Given the description of an element on the screen output the (x, y) to click on. 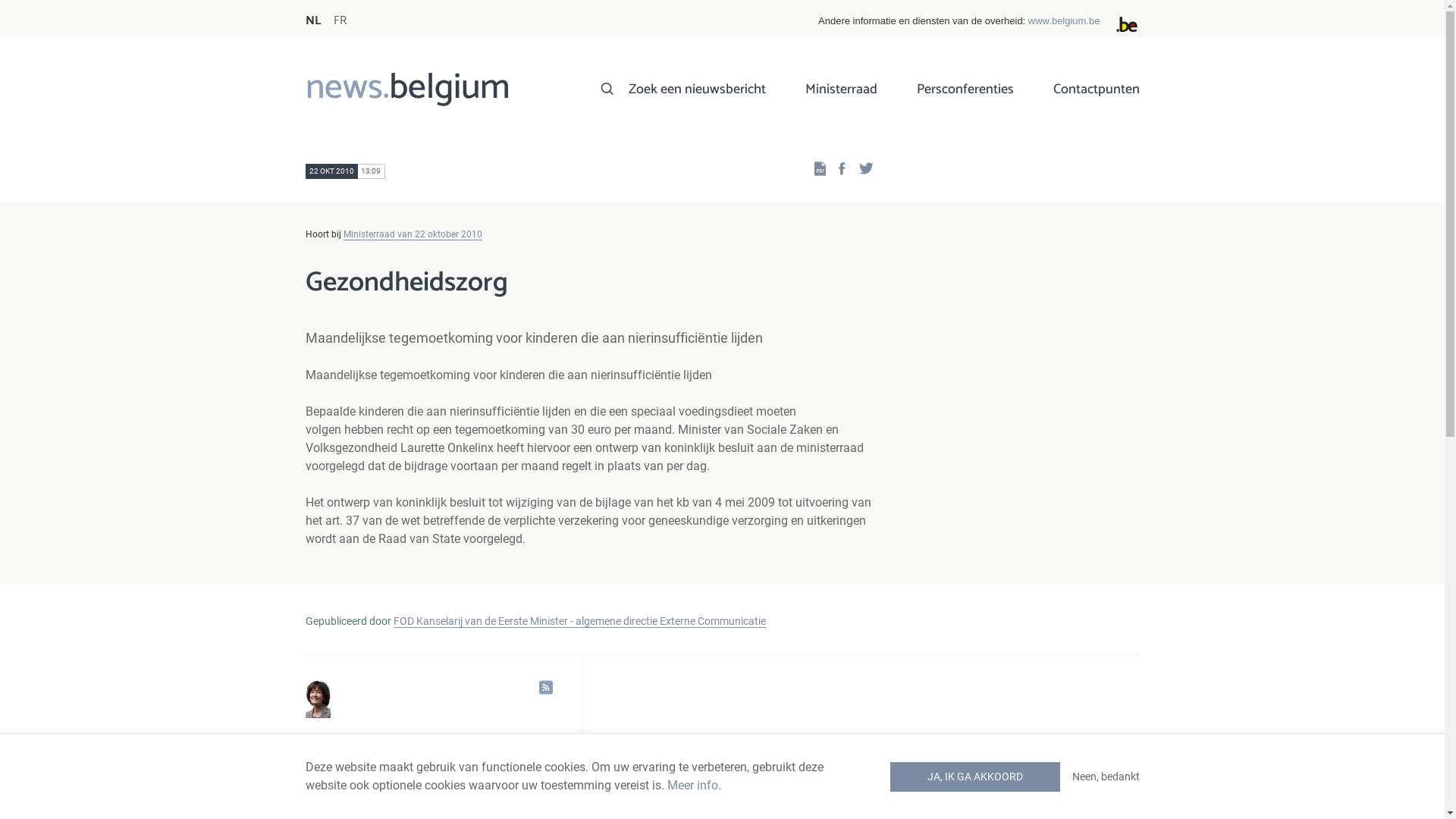
Zoek een nieuwsbericht Element type: text (696, 95)
JA, IK GA AKKOORD Element type: text (975, 775)
www.belgium.be Element type: text (1064, 20)
Ministerraad van 22 oktober 2010 Element type: text (411, 234)
Contactpunten Element type: text (1095, 95)
Meer info Element type: text (692, 785)
NL Element type: text (312, 15)
news.belgium Element type: text (406, 93)
Ministerraad Element type: text (841, 95)
FR Element type: text (339, 15)
Facebook Element type: text (836, 167)
Neen, bedankt Element type: text (1105, 776)
Twitter Element type: text (860, 167)
Persconferenties Element type: text (964, 95)
